Given the description of an element on the screen output the (x, y) to click on. 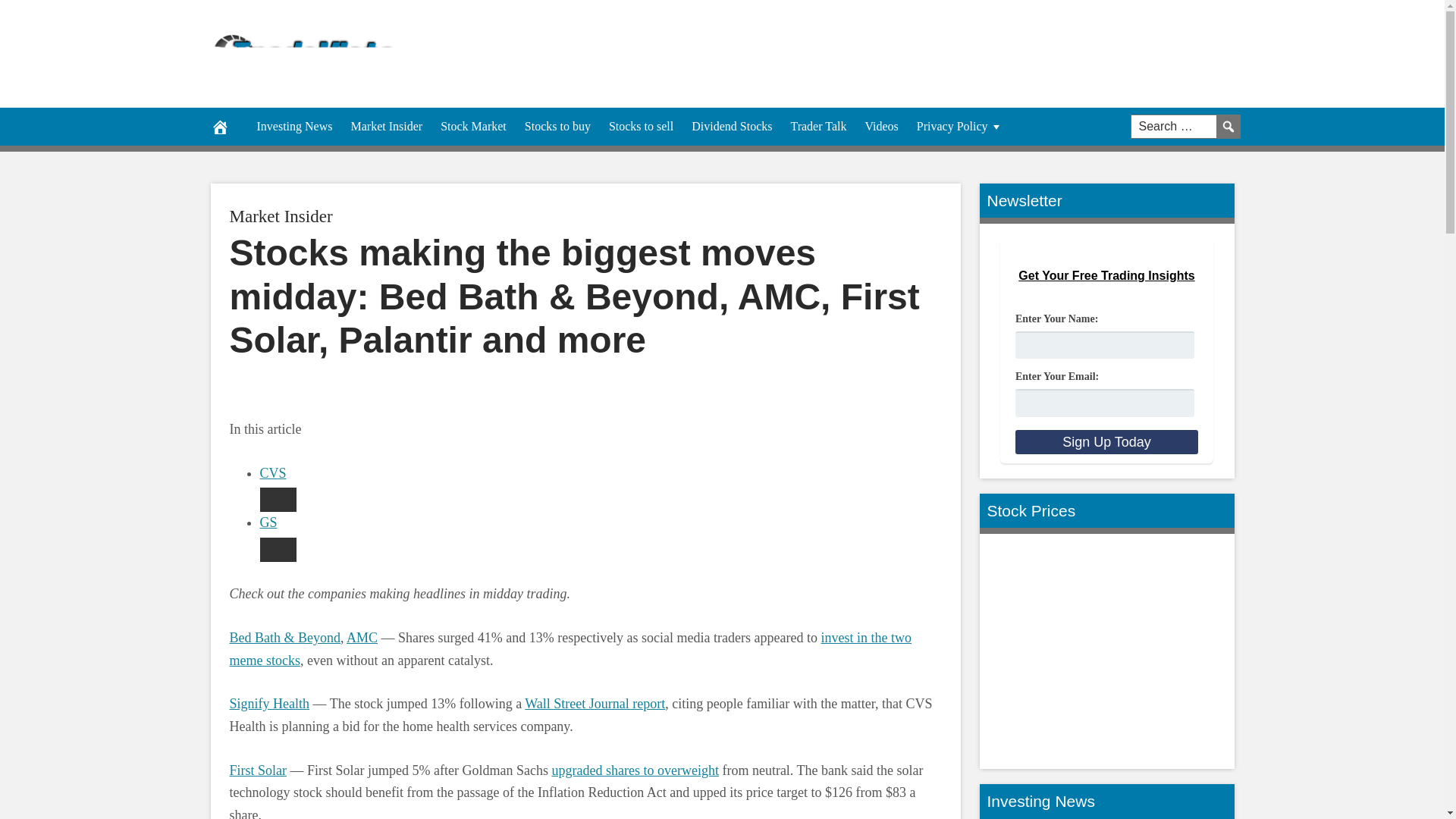
Market Insider (279, 216)
Stock Market (472, 126)
Market Insider (385, 126)
Privacy Policy (959, 126)
CVS (272, 473)
Stocks to sell (640, 126)
Sign Up Today (1106, 442)
Stocks to buy (557, 126)
Videos (881, 126)
Trader Talk (818, 126)
